Given the description of an element on the screen output the (x, y) to click on. 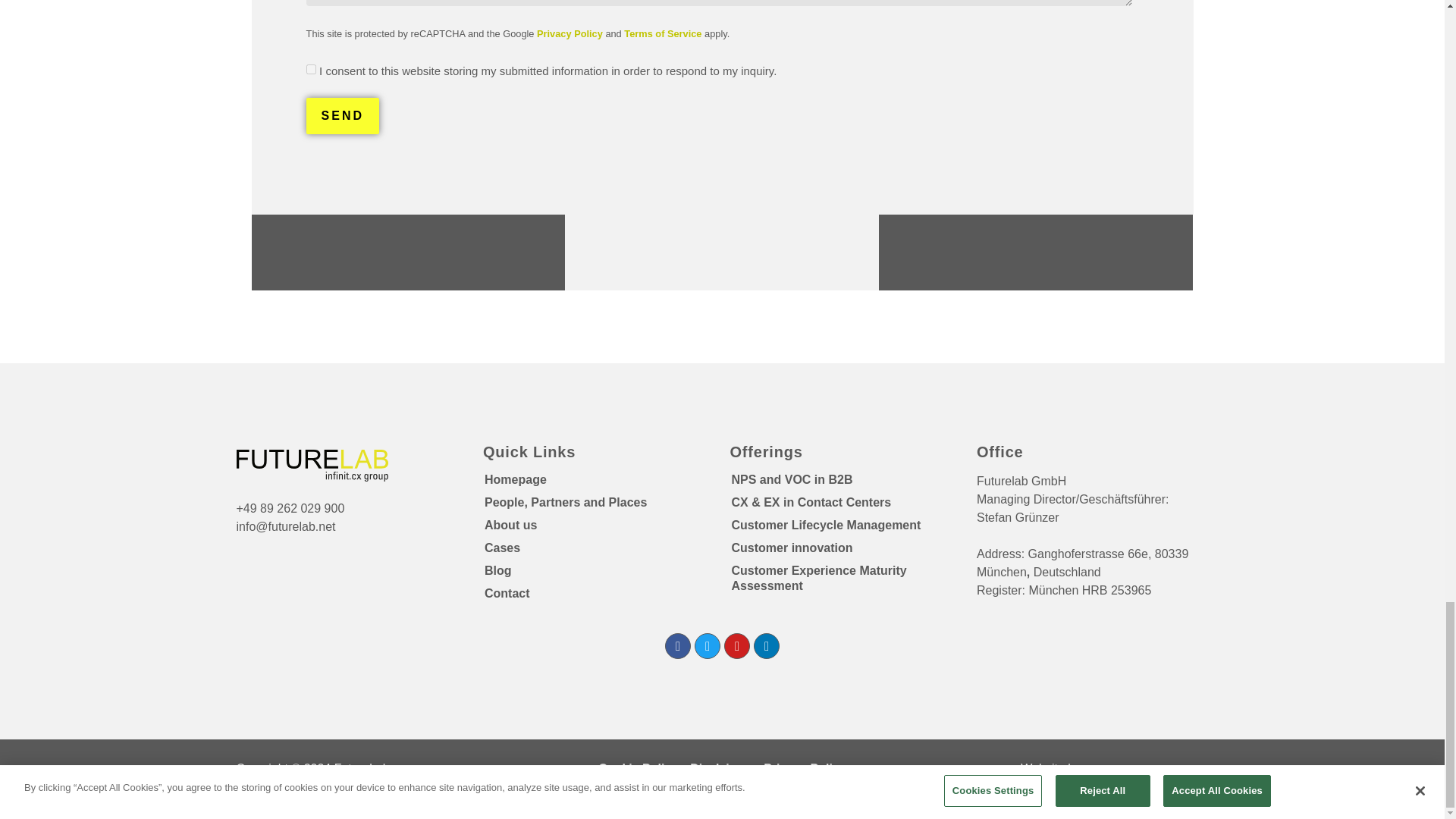
on (310, 69)
